Given the description of an element on the screen output the (x, y) to click on. 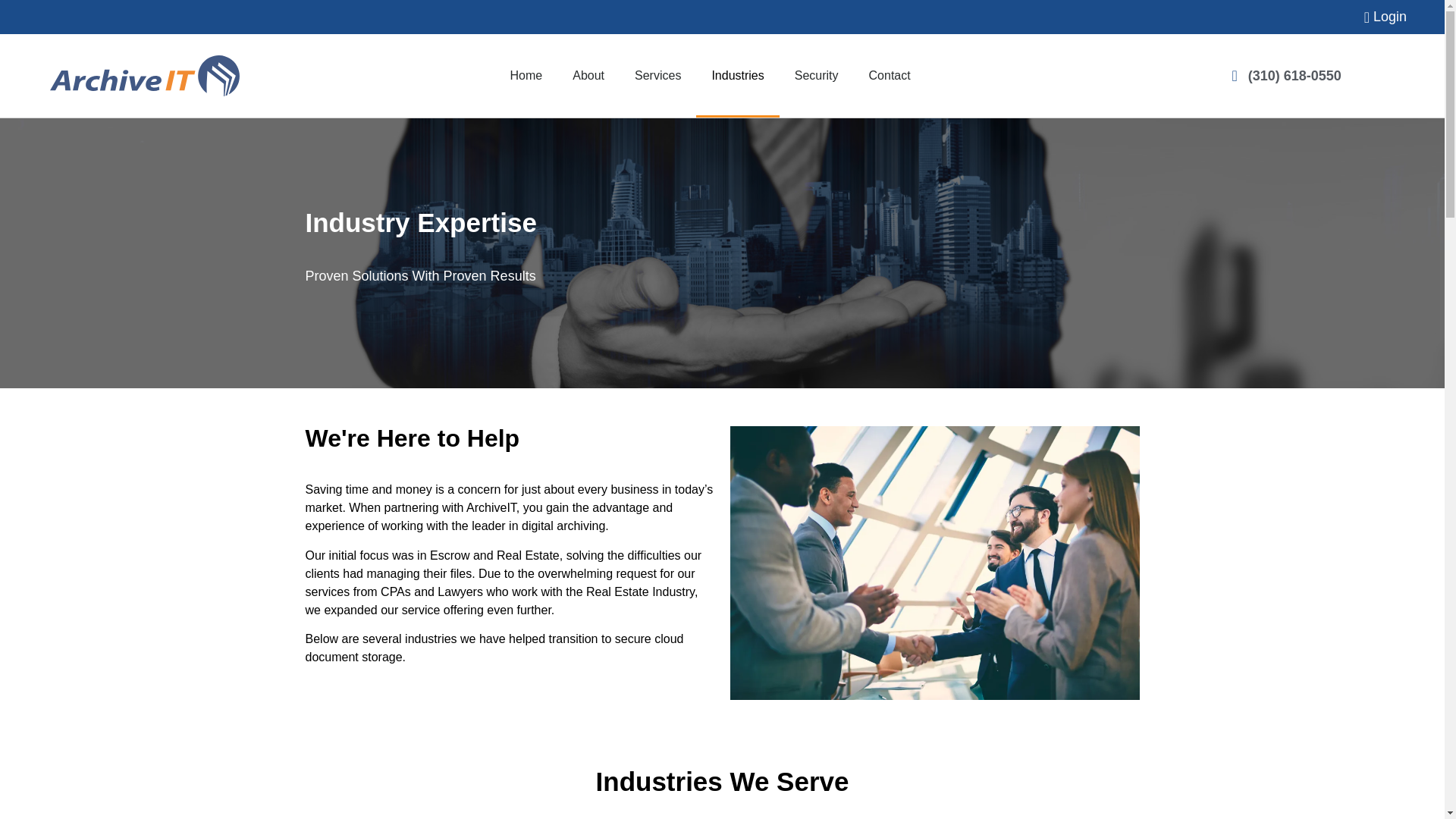
Security (815, 75)
Services (657, 75)
Industries (736, 75)
Login (703, 16)
